Given the description of an element on the screen output the (x, y) to click on. 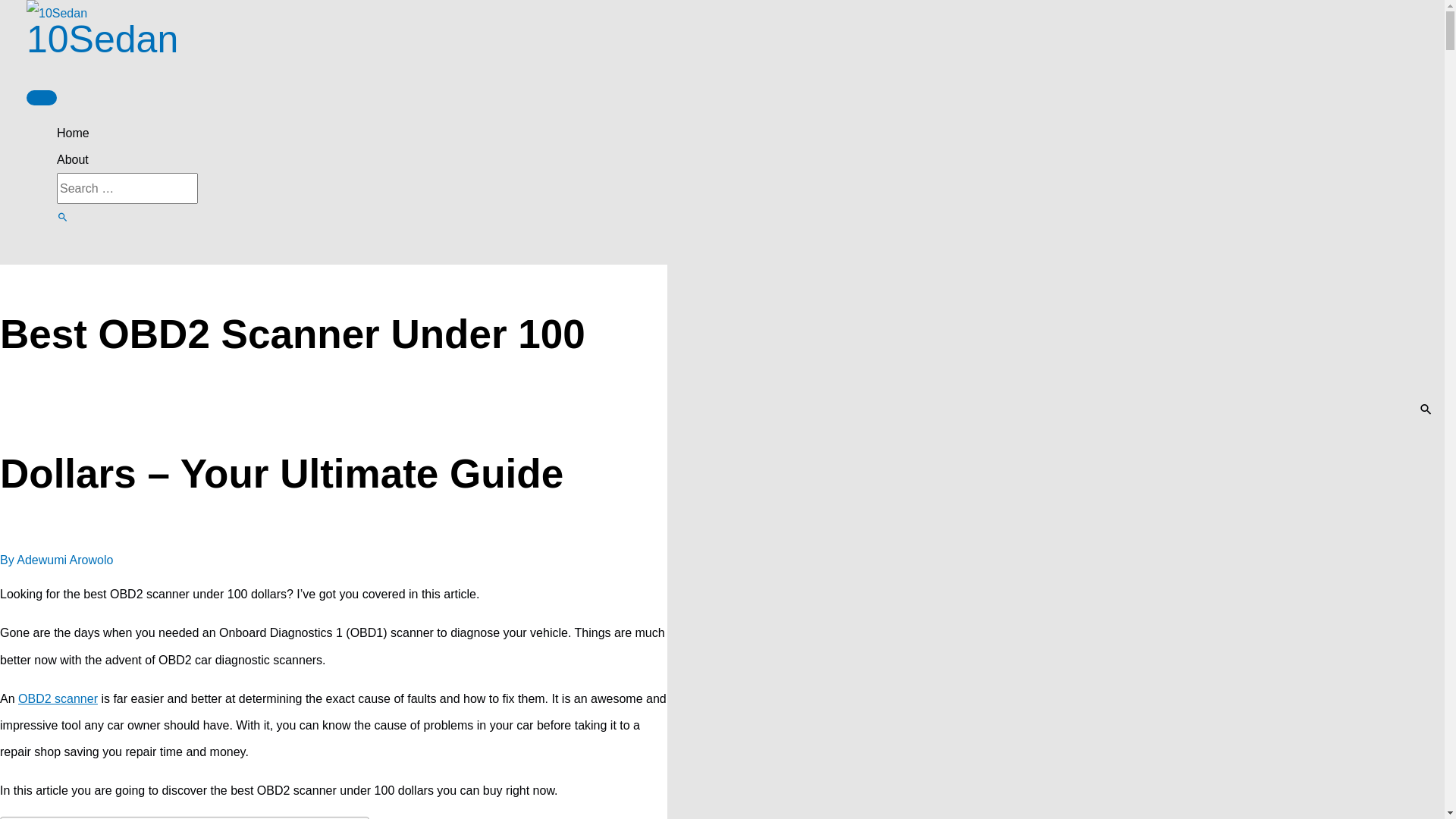
Main Menu Element type: text (41, 97)
OBD2 scanner Element type: text (57, 698)
Search Element type: text (62, 217)
About Element type: text (737, 159)
Home Element type: text (737, 132)
10Sedan Element type: text (102, 39)
Adewumi Arowolo Element type: text (64, 559)
